Given the description of an element on the screen output the (x, y) to click on. 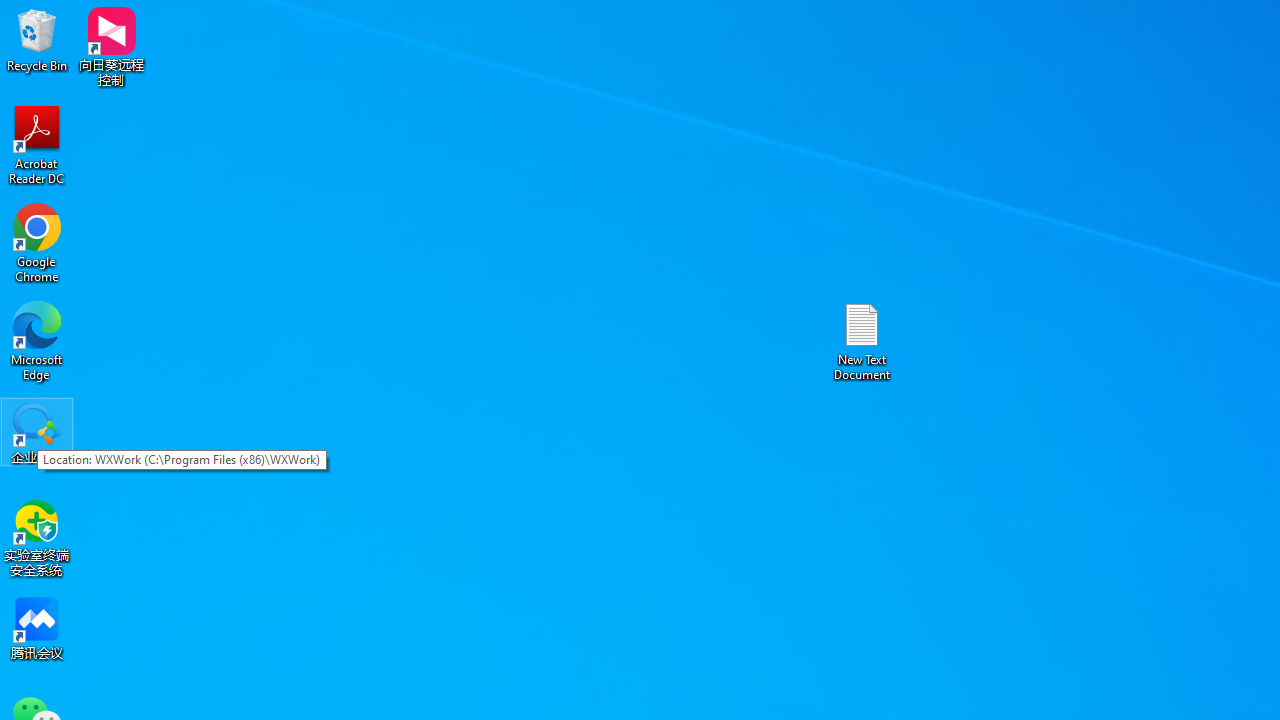
Acrobat Reader DC (37, 144)
New Text Document (861, 340)
Recycle Bin (37, 39)
Microsoft Edge (37, 340)
Google Chrome (37, 242)
